Given the description of an element on the screen output the (x, y) to click on. 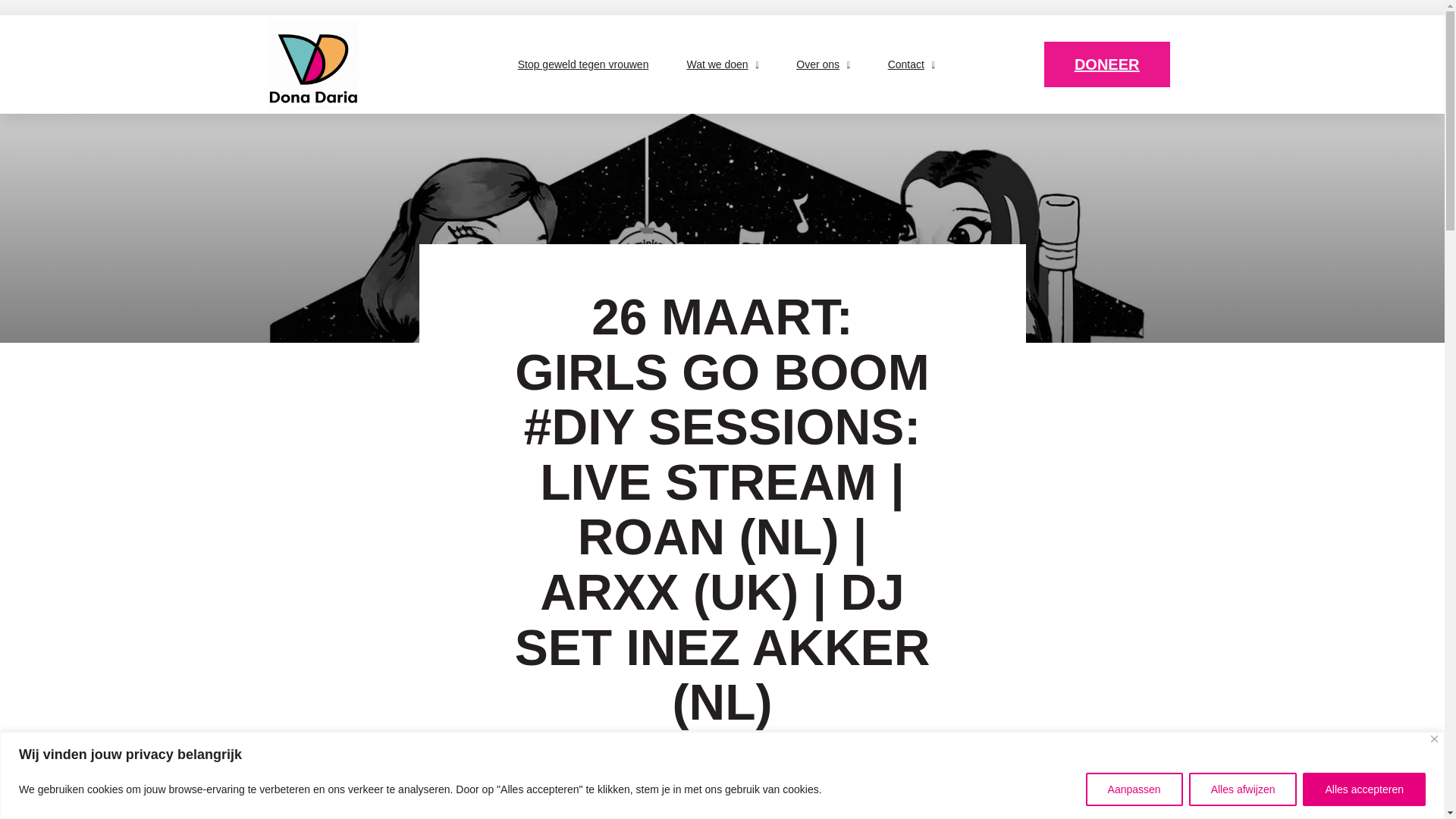
Stop geweld tegen vrouwen (583, 64)
Wat we doen (721, 64)
Alles accepteren (1364, 788)
Alles afwijzen (1243, 788)
Aanpassen (1134, 788)
